Given the description of an element on the screen output the (x, y) to click on. 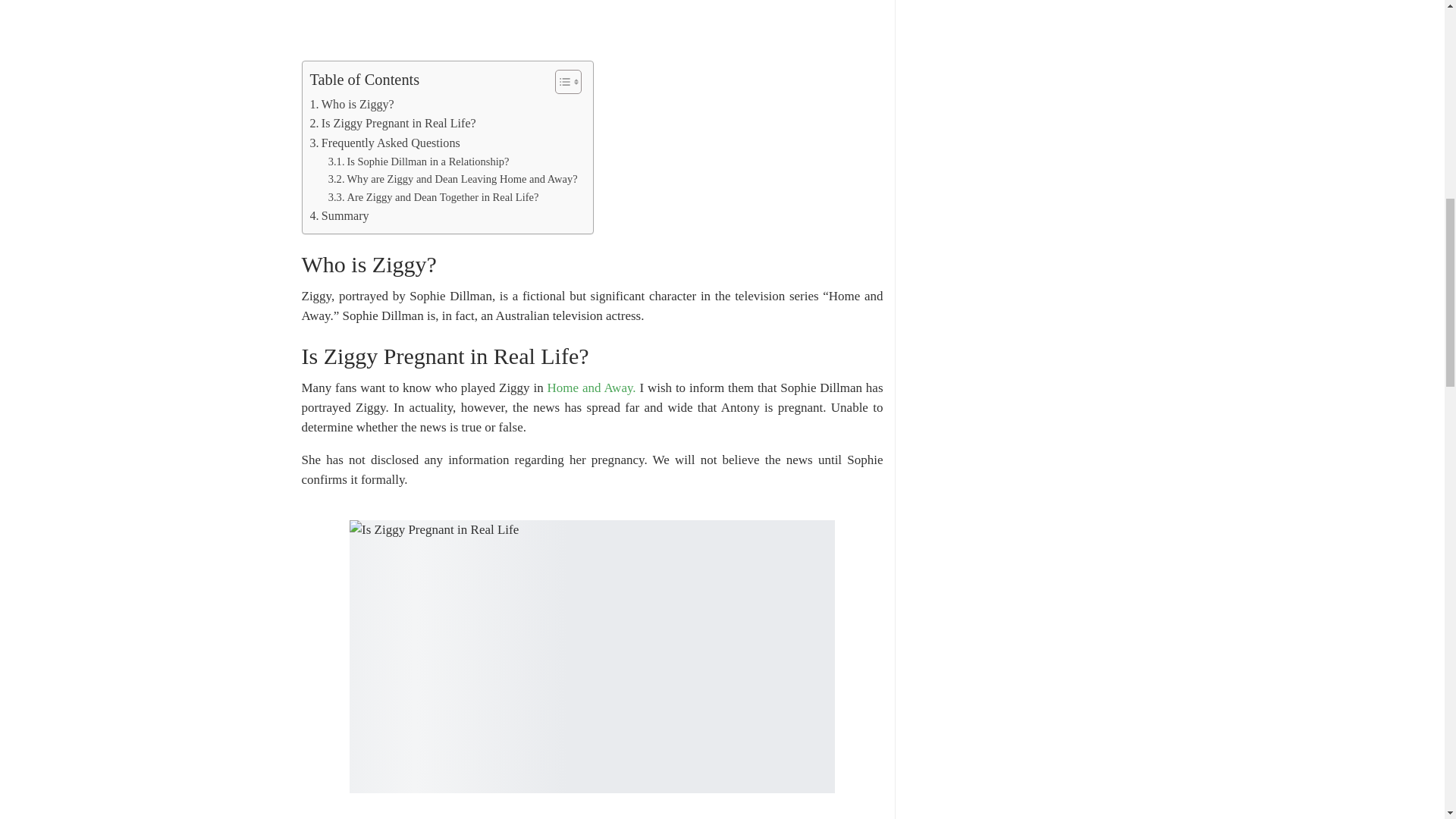
Frequently Asked Questions (384, 143)
Who is Ziggy? (350, 104)
Is Sophie Dillman in a Relationship? (419, 161)
Advertisement (592, 27)
Why are Ziggy and Dean Leaving Home and Away? (453, 179)
Are Ziggy and Dean Together in Real Life? (433, 197)
Summary (338, 216)
Is Ziggy Pregnant in Real Life? (392, 123)
